Given the description of an element on the screen output the (x, y) to click on. 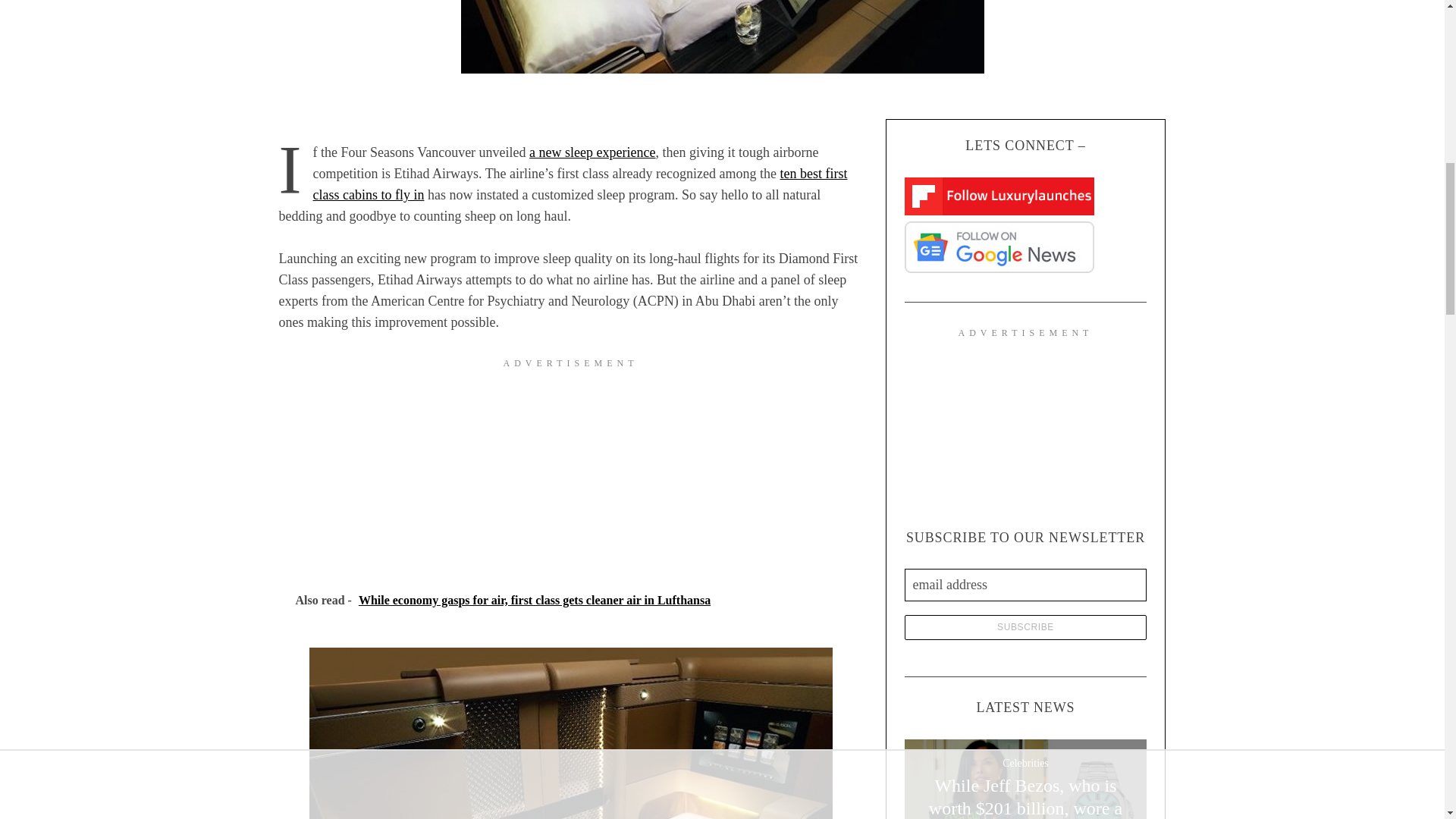
a new sleep experience (592, 151)
Subscribe (1025, 627)
ten best first class cabins to fly in (580, 184)
